Given the description of an element on the screen output the (x, y) to click on. 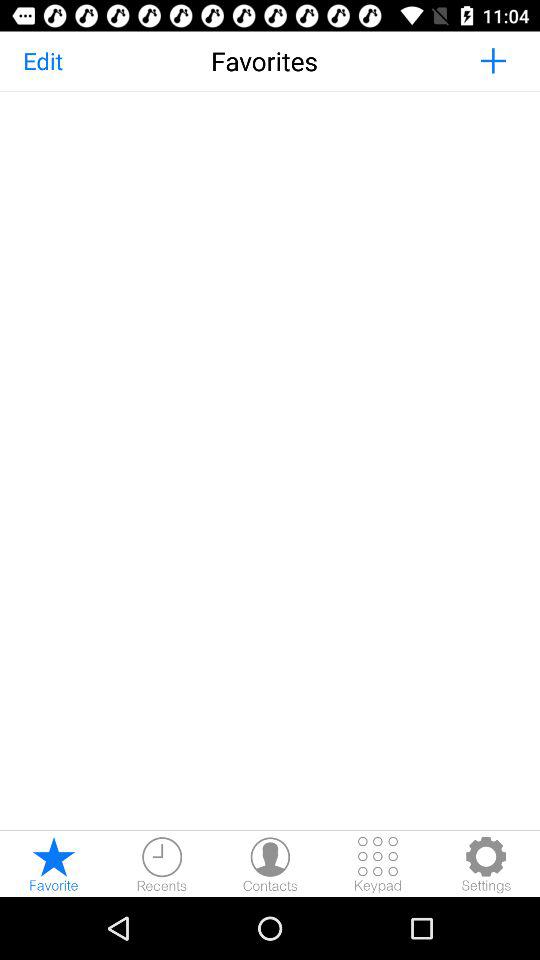
recently viewed (161, 864)
